Given the description of an element on the screen output the (x, y) to click on. 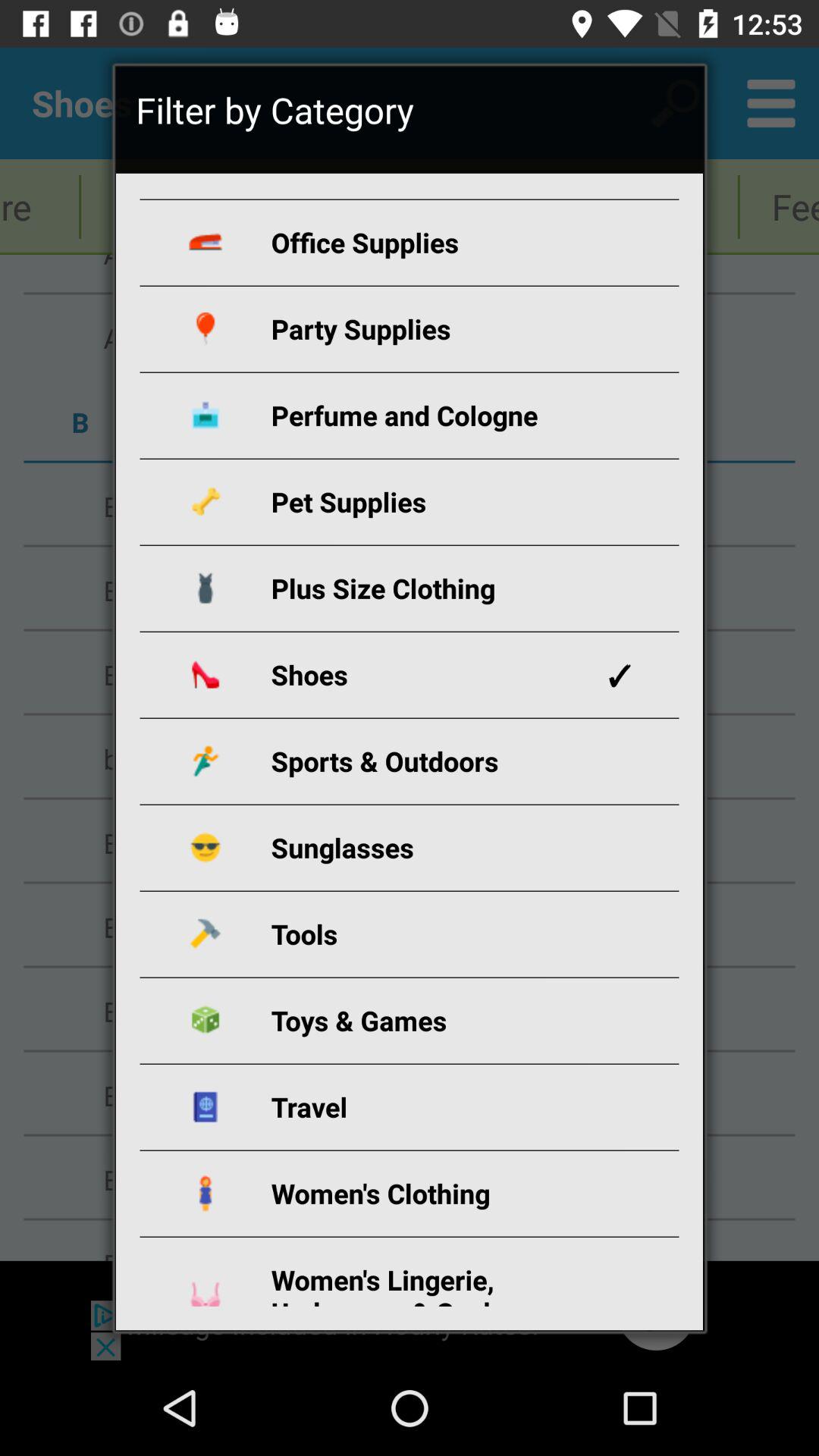
tap shoes app (427, 674)
